Given the description of an element on the screen output the (x, y) to click on. 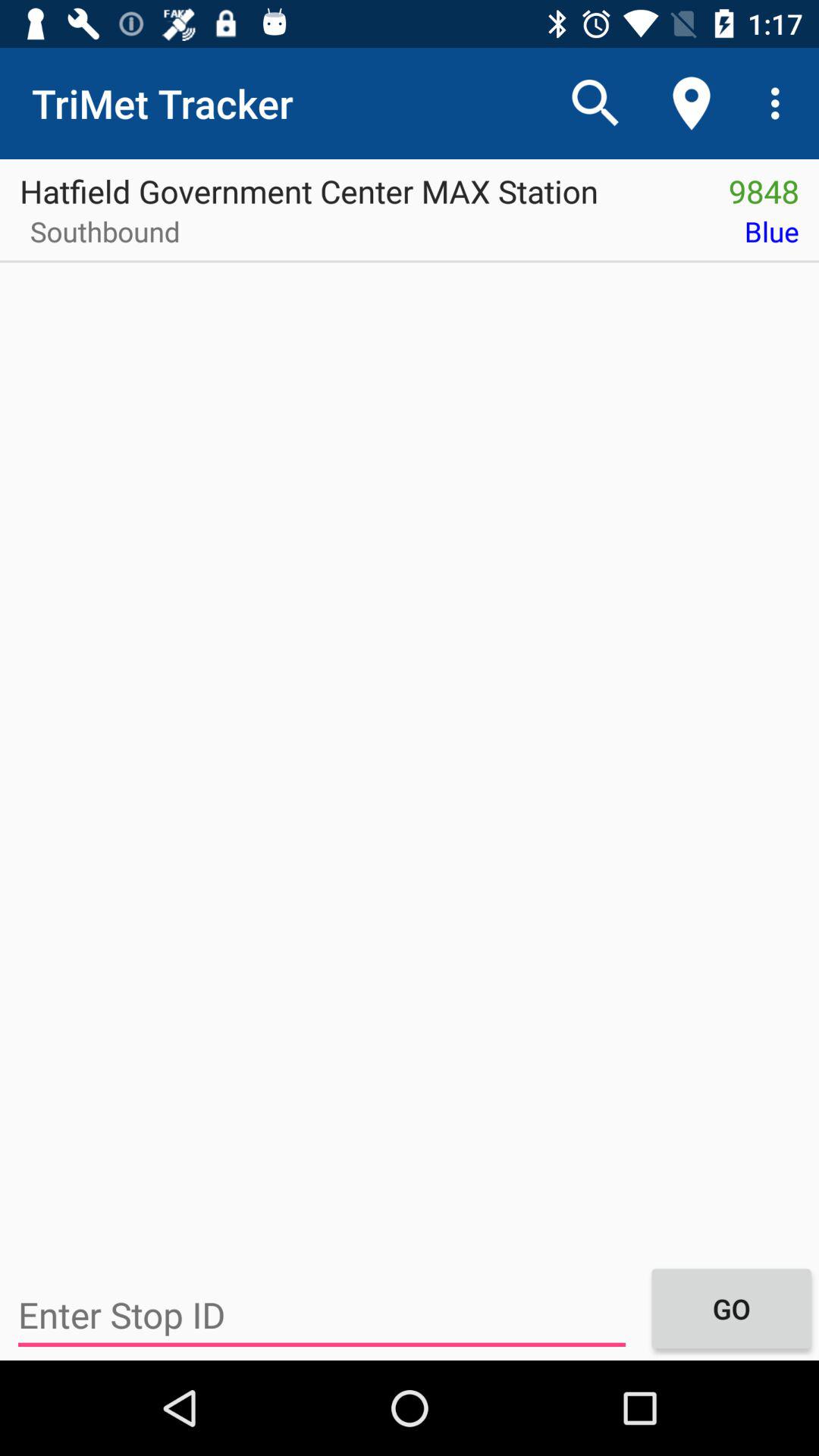
turn off item below hatfield government center icon (100, 236)
